Given the description of an element on the screen output the (x, y) to click on. 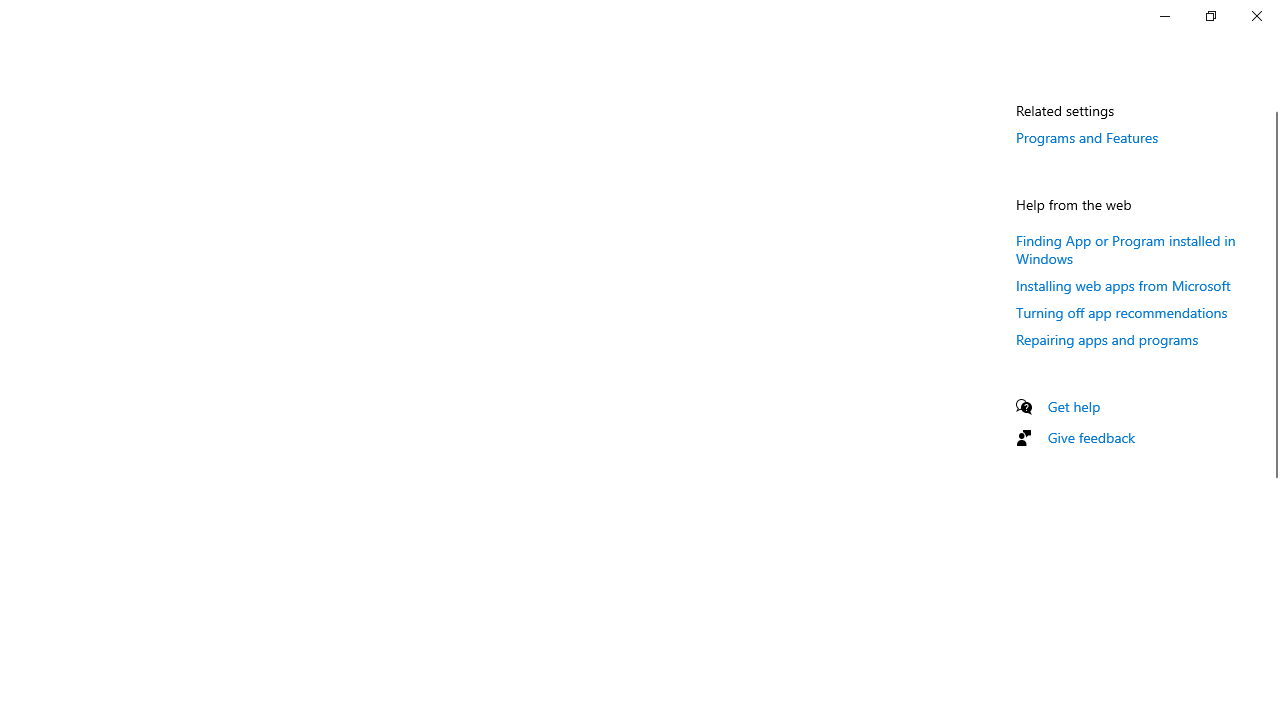
Turning off app recommendations (1121, 312)
Vertical Small Decrease (1272, 103)
Repairing apps and programs (1107, 339)
Programs and Features (1087, 137)
Give feedback (1091, 437)
Restore Settings (1210, 15)
Finding App or Program installed in Windows (1126, 248)
Close Settings (1256, 15)
Minimize Settings (1164, 15)
Get help (1074, 406)
Installing web apps from Microsoft (1123, 285)
